Given the description of an element on the screen output the (x, y) to click on. 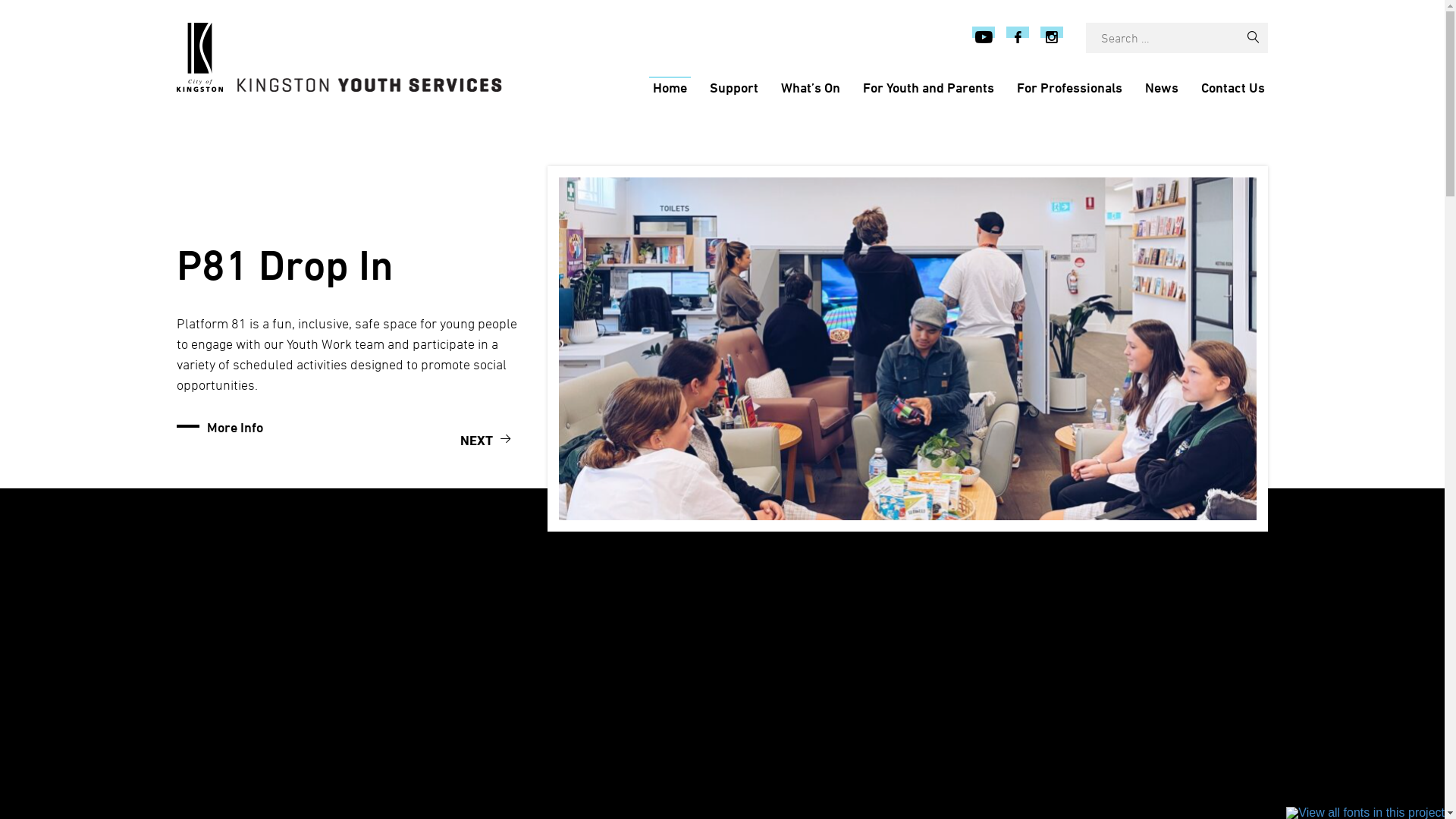
Kingston Element type: hover (198, 56)
Kingston Element type: hover (369, 84)
News Element type: text (1160, 86)
Contact Us Element type: text (1231, 86)
Instagram Element type: hover (1051, 37)
EMAIL US
Send us an e-mail Element type: text (1155, 682)
Find out more Element type: text (247, 729)
TALK TO US
1300 369 436 Element type: text (659, 682)
For Youth and Parents Element type: text (927, 86)
Search Element type: hover (1252, 37)
Support Element type: text (733, 86)
Youtube Element type: hover (983, 37)
More Info Element type: text (234, 426)
Facebook Element type: hover (1017, 37)
Search for: Element type: hover (1161, 37)
For Professionals Element type: text (1069, 86)
Home Element type: text (669, 86)
VISIT US
Platform 81
81 Albert Street, Mordialloc VIC 3195 Element type: text (907, 682)
